Given the description of an element on the screen output the (x, y) to click on. 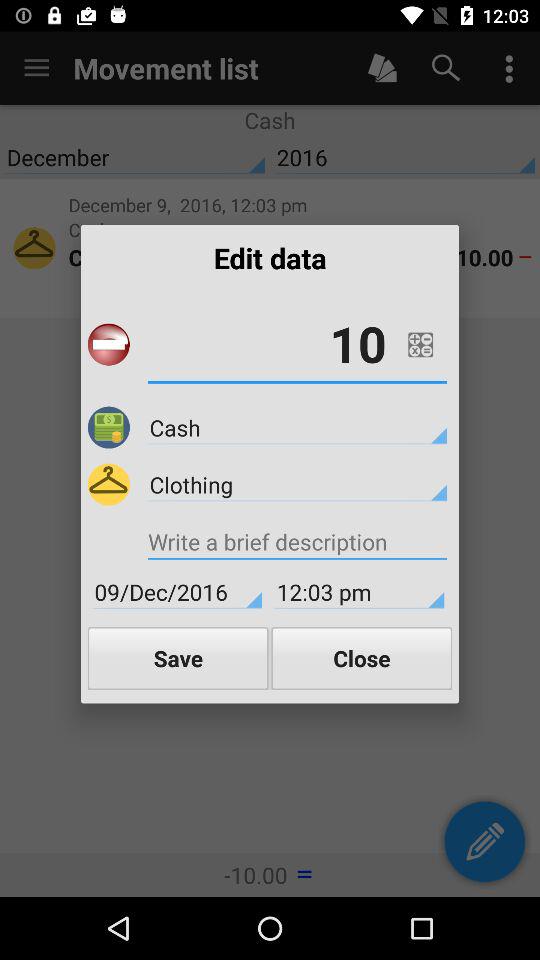
turn off the icon above cash item (420, 344)
